Given the description of an element on the screen output the (x, y) to click on. 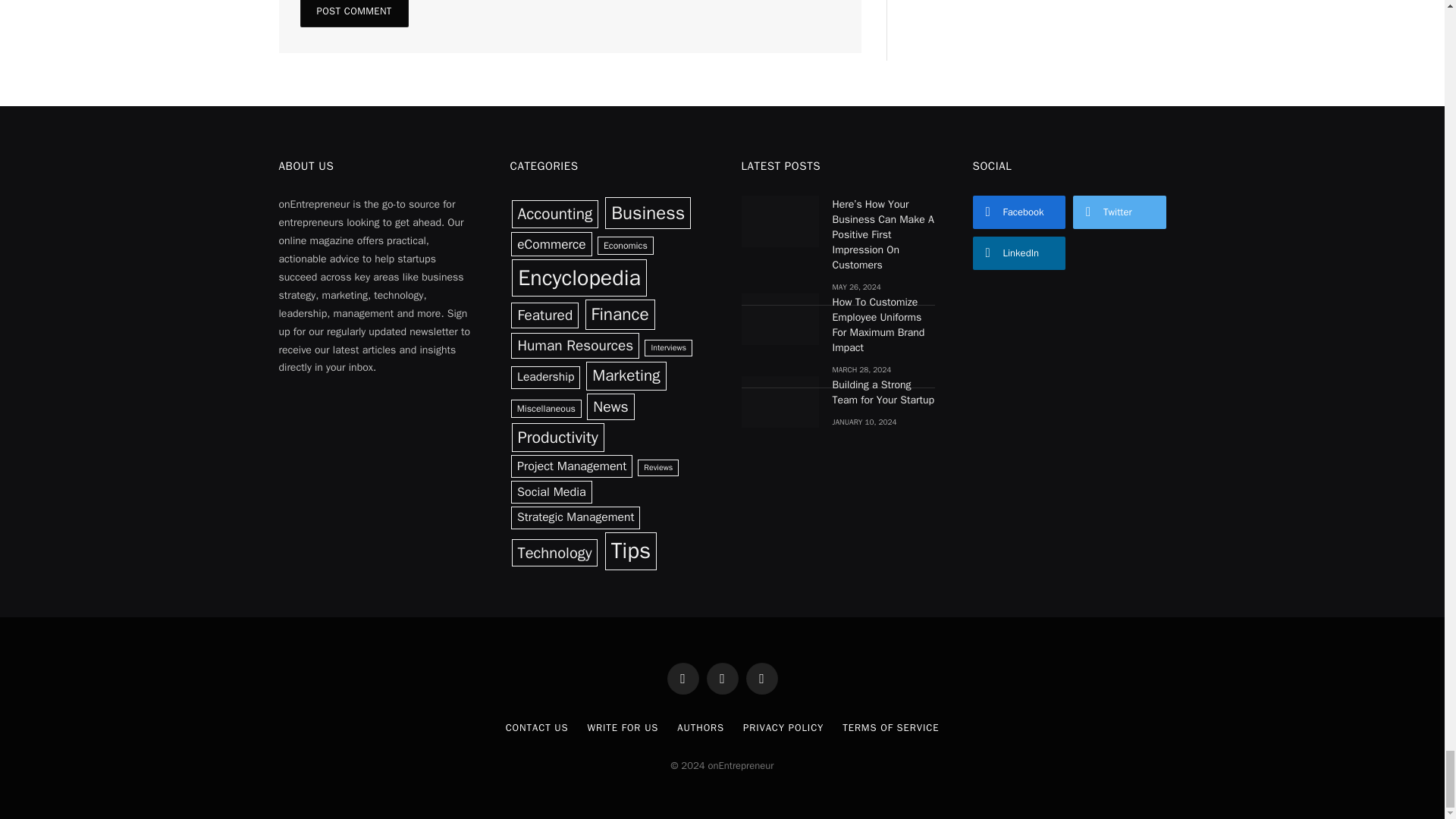
Post Comment (354, 13)
